Given the description of an element on the screen output the (x, y) to click on. 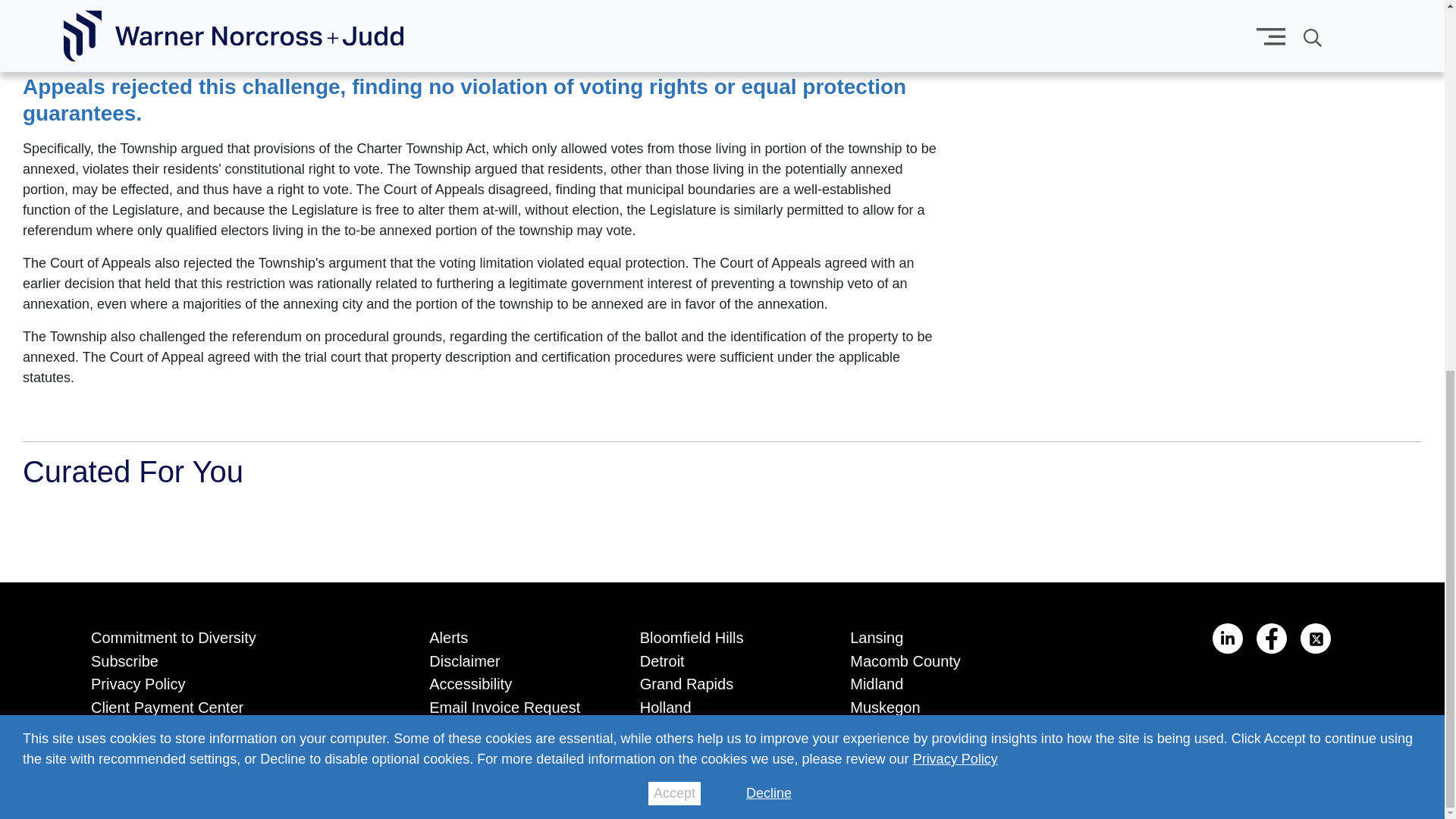
Kalamazoo (722, 727)
Commitment to Diversity (237, 635)
Holland (722, 704)
Facebook (1271, 638)
Linkedin (1227, 638)
Disclaimer (511, 658)
Detroit (722, 658)
Client Payment Center (237, 704)
Decline (768, 119)
Subscribe (237, 658)
Accept (673, 119)
Bloomfield Hills (722, 635)
Midland (932, 680)
Privacy Policy (954, 84)
Lansing (932, 635)
